Given the description of an element on the screen output the (x, y) to click on. 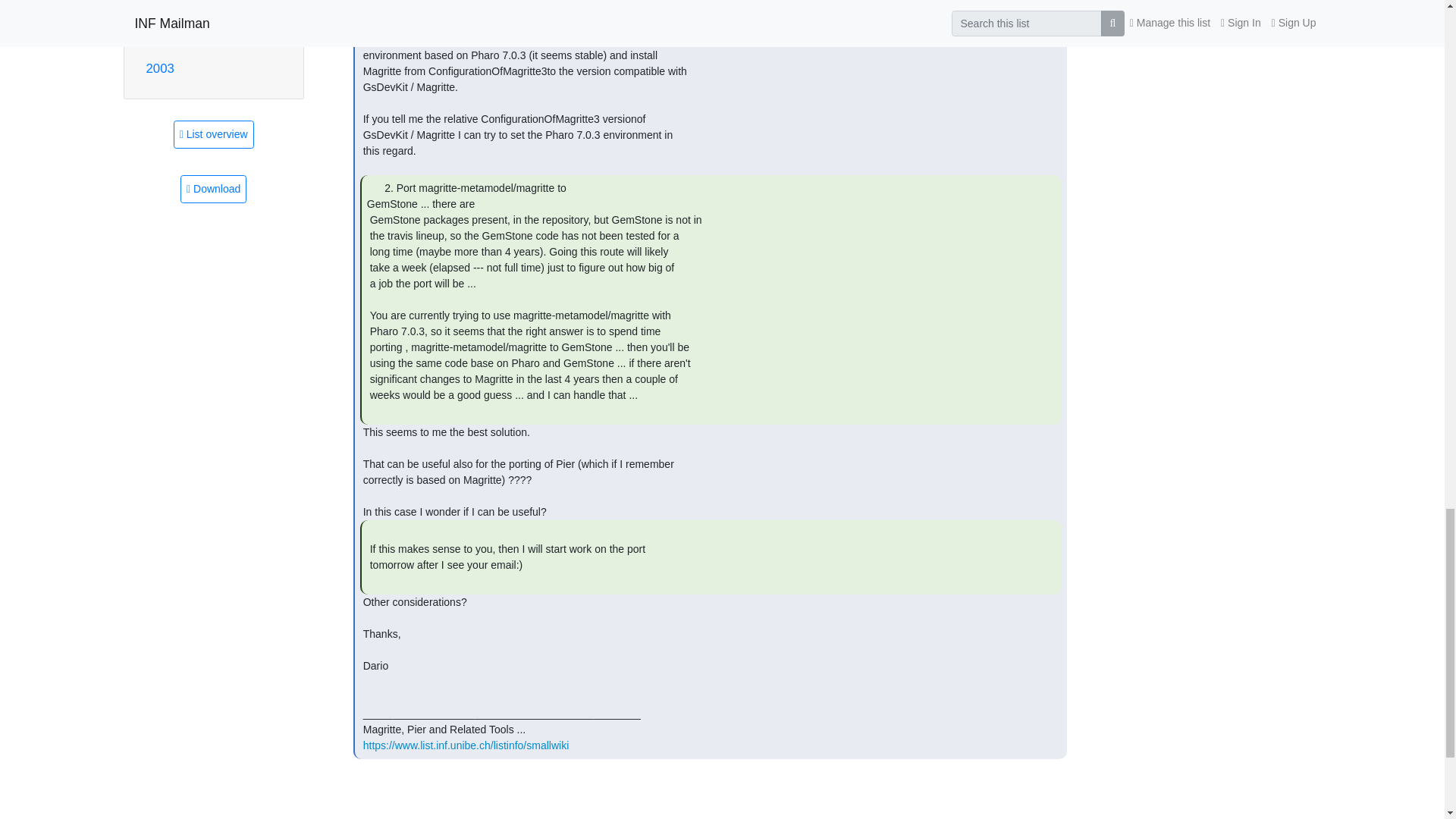
This message in gzipped mbox format (213, 189)
